Given the description of an element on the screen output the (x, y) to click on. 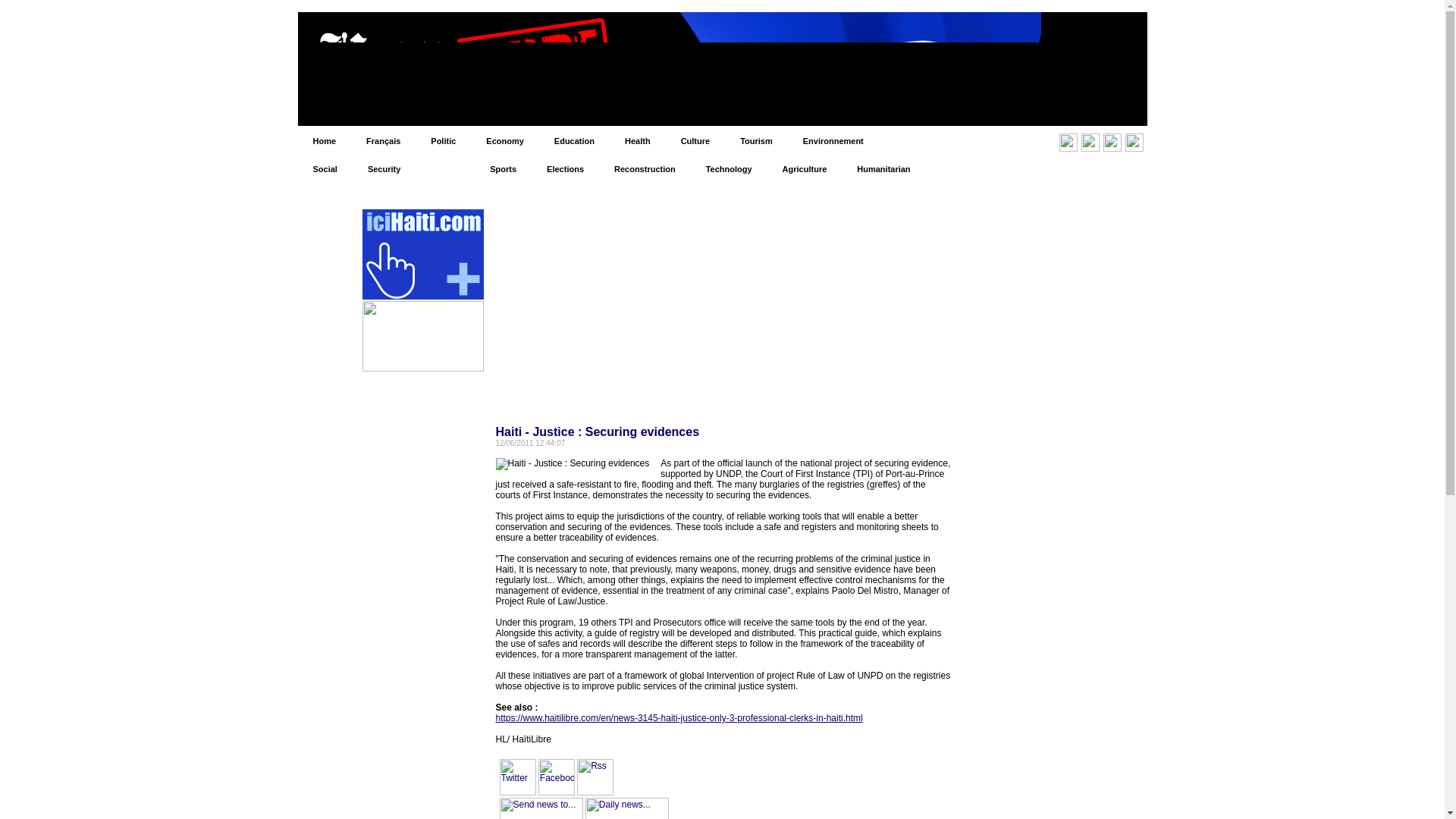
Sports (502, 168)
Reconstruction (644, 168)
Politic (442, 141)
Agriculture (805, 168)
Culture (695, 141)
Home (323, 141)
Tourism (756, 141)
Security (383, 168)
Elections (564, 168)
Economy (504, 141)
Health (637, 141)
COVID-19 (913, 141)
Technology (728, 168)
Humanitarian (882, 168)
Justice (444, 168)
